Given the description of an element on the screen output the (x, y) to click on. 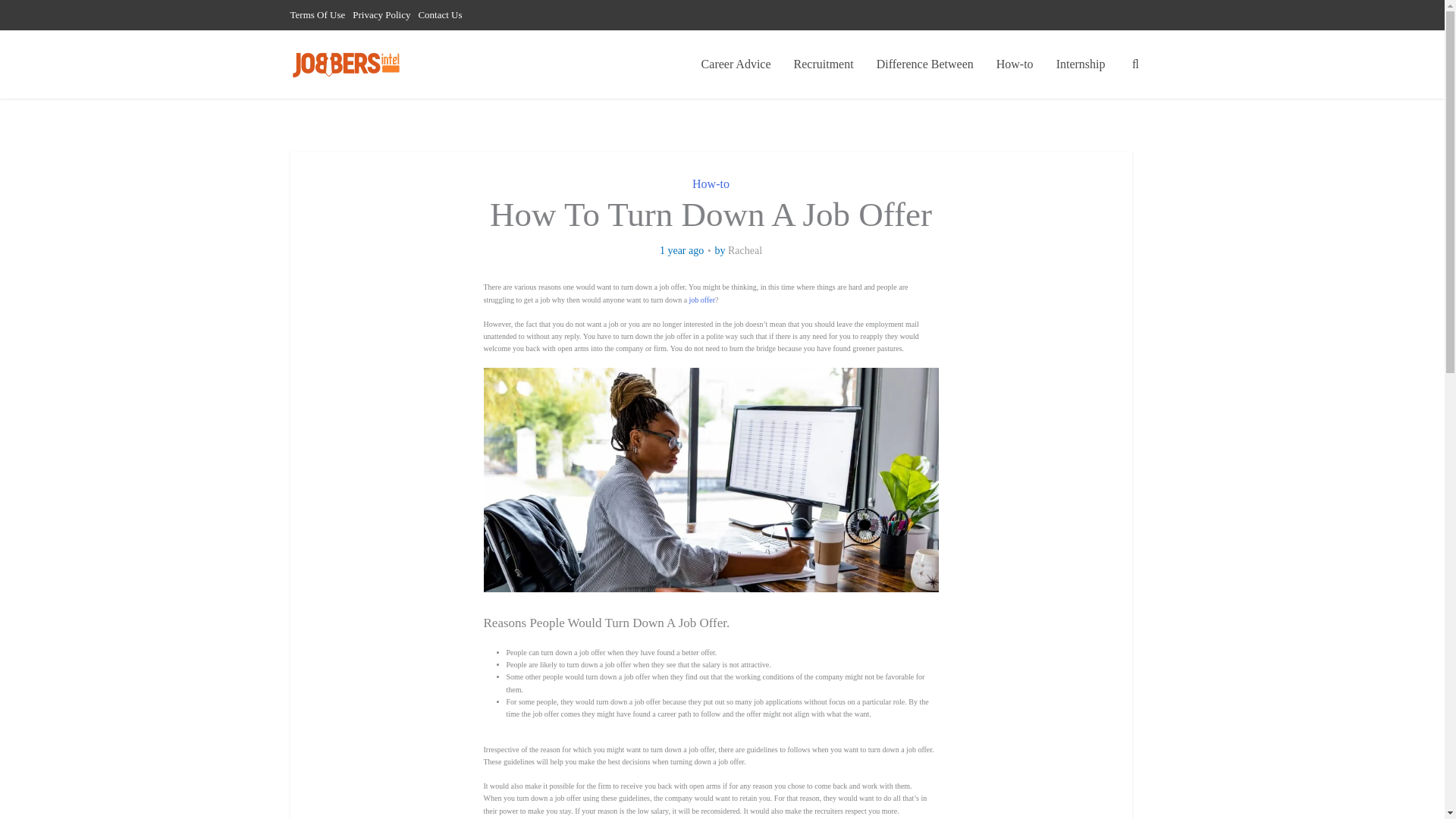
Internship (1080, 64)
job offer (702, 299)
Career Advice (736, 64)
Privacy Policy (381, 14)
Racheal (744, 250)
Recruitment (823, 64)
How-to (711, 183)
How-to (1015, 64)
Difference Between (924, 64)
Terms Of Use (317, 14)
Contact Us (439, 14)
